Given the description of an element on the screen output the (x, y) to click on. 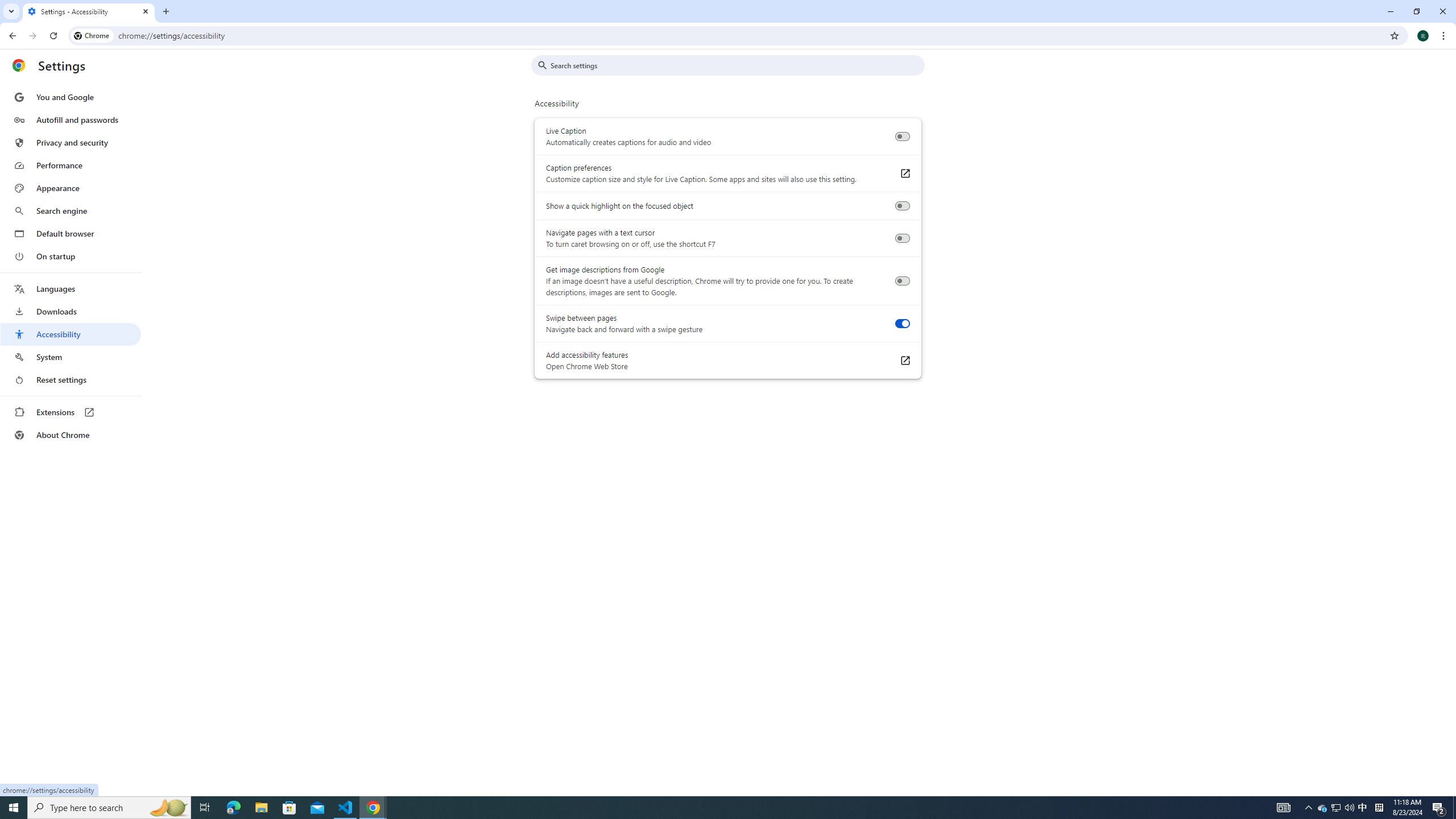
Get image descriptions from Google (901, 280)
Privacy and security (70, 142)
Appearance (70, 187)
Default browser (70, 233)
Reset settings (70, 379)
About Chrome (70, 434)
Add accessibility features Open Chrome Web Store (904, 360)
Show a quick highlight on the focused object (901, 206)
